Given the description of an element on the screen output the (x, y) to click on. 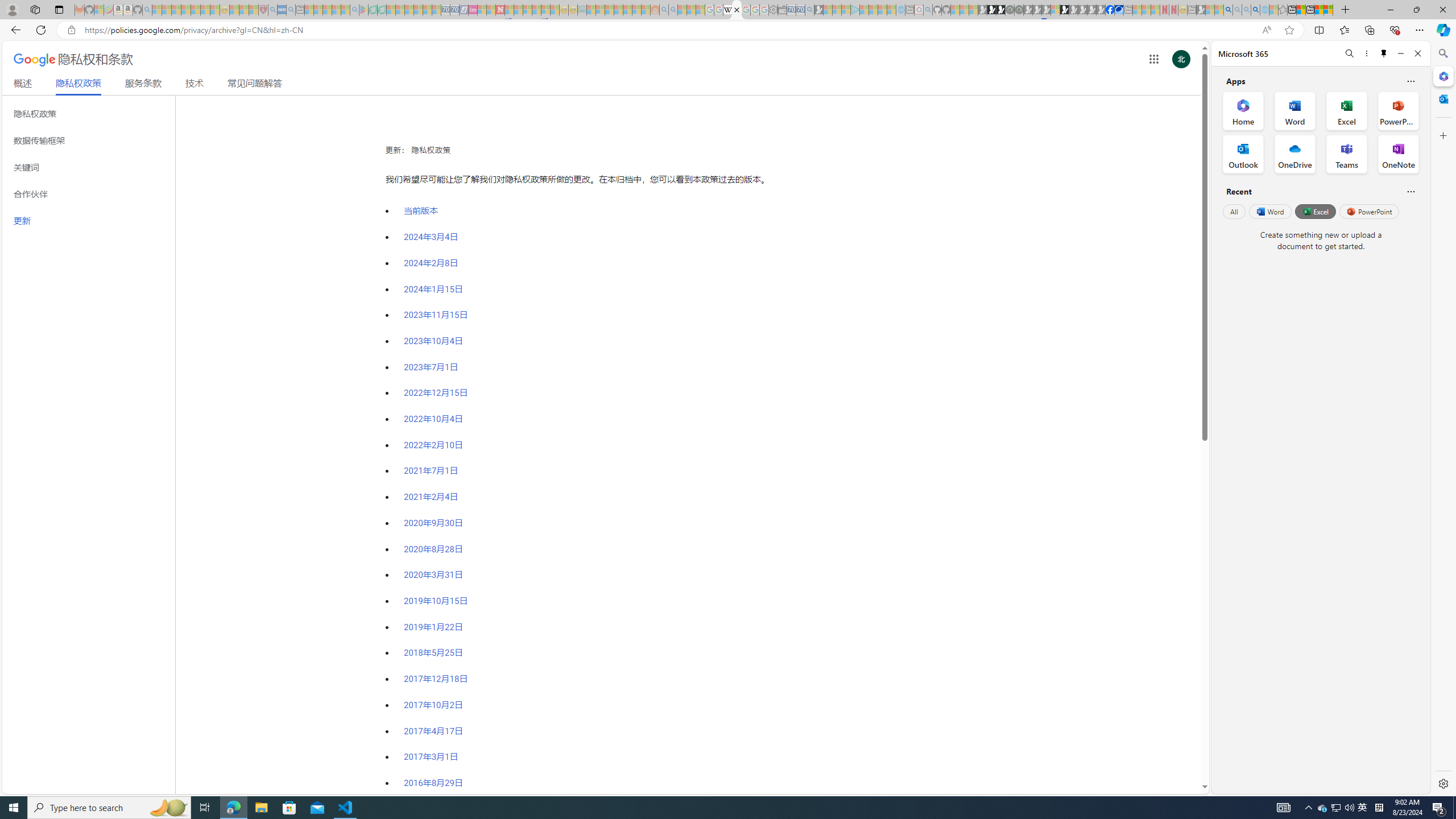
Word (1269, 210)
google - Search - Sleeping (354, 9)
Unpin side pane (1383, 53)
